Given the description of an element on the screen output the (x, y) to click on. 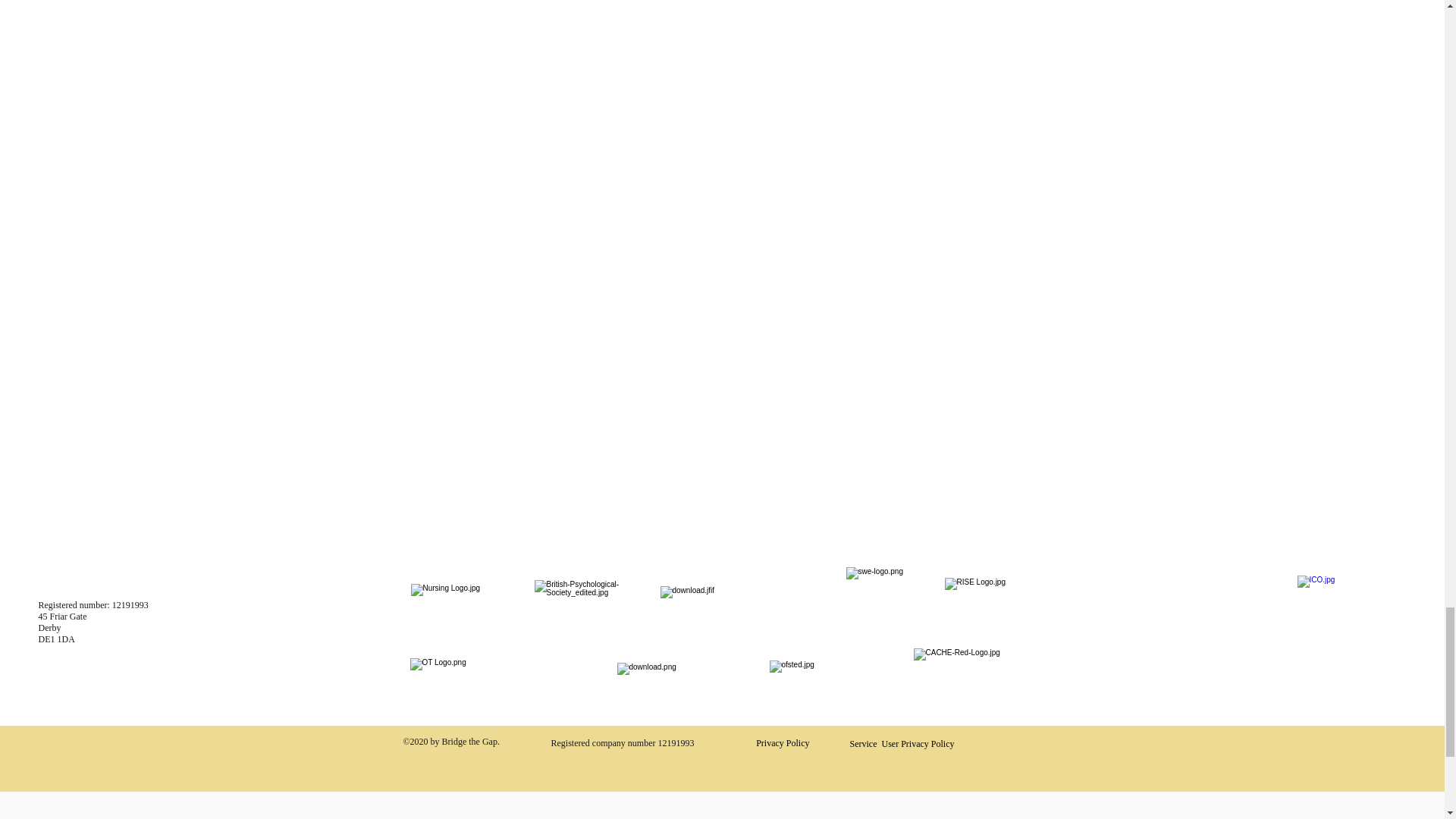
MHFA.png (884, 606)
Privacy Policy (782, 742)
Service  User Privacy Policy (902, 743)
MHFA.png (1341, 619)
